Given the description of an element on the screen output the (x, y) to click on. 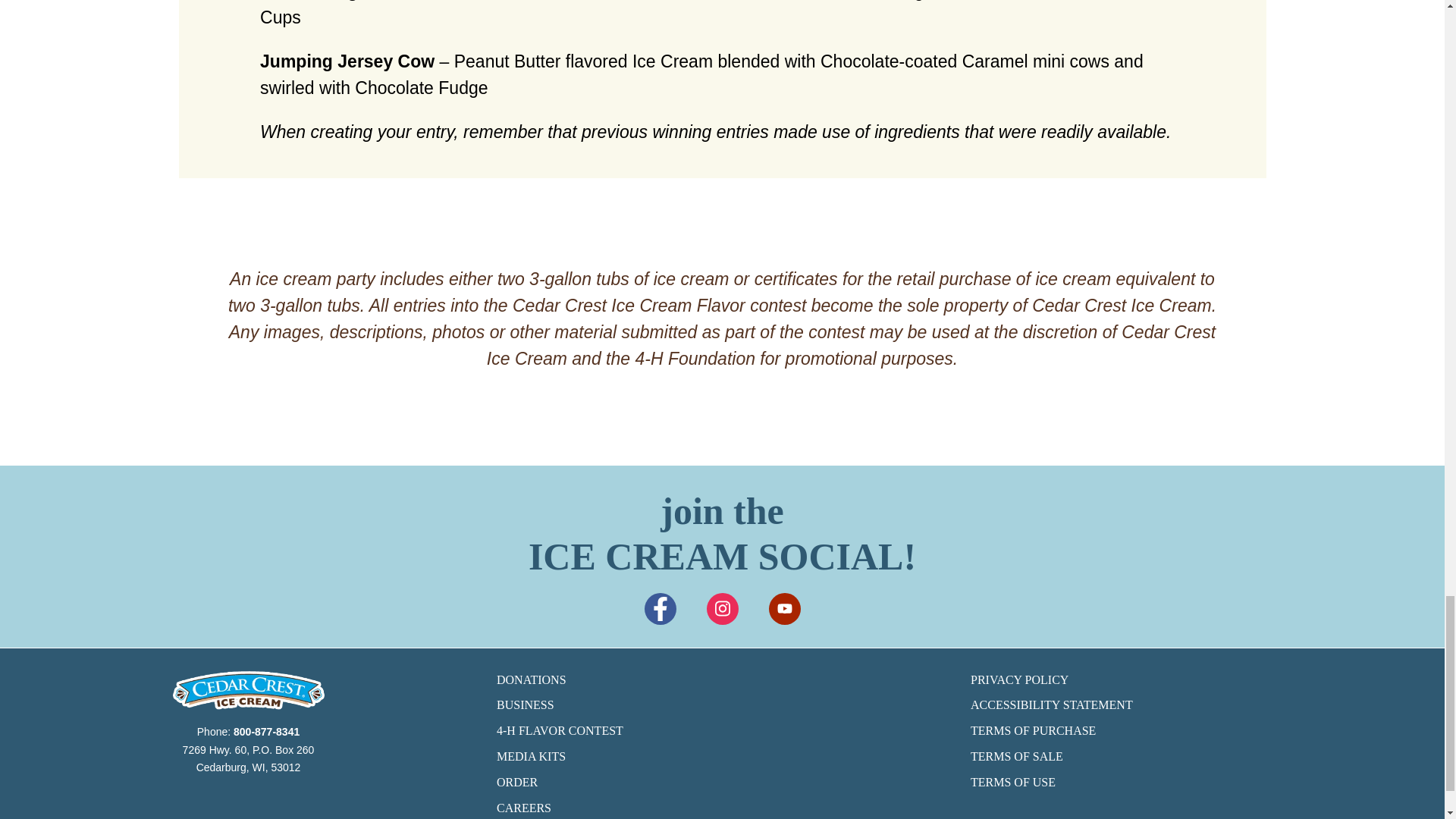
Follow on Instagram (722, 608)
Follow on Youtube (784, 608)
DONATIONS (721, 679)
CAREERS (721, 808)
4-H FLAVOR CONTEST (721, 730)
TERMS OF SALE (1196, 756)
MEDIA KITS (721, 756)
Follow on Facebook (661, 608)
ACCESSIBILITY STATEMENT (1196, 705)
TERMS OF USE (1196, 782)
BUSINESS (721, 705)
PRIVACY POLICY (1196, 679)
ORDER (721, 782)
TERMS OF PURCHASE (1196, 730)
